Given the description of an element on the screen output the (x, y) to click on. 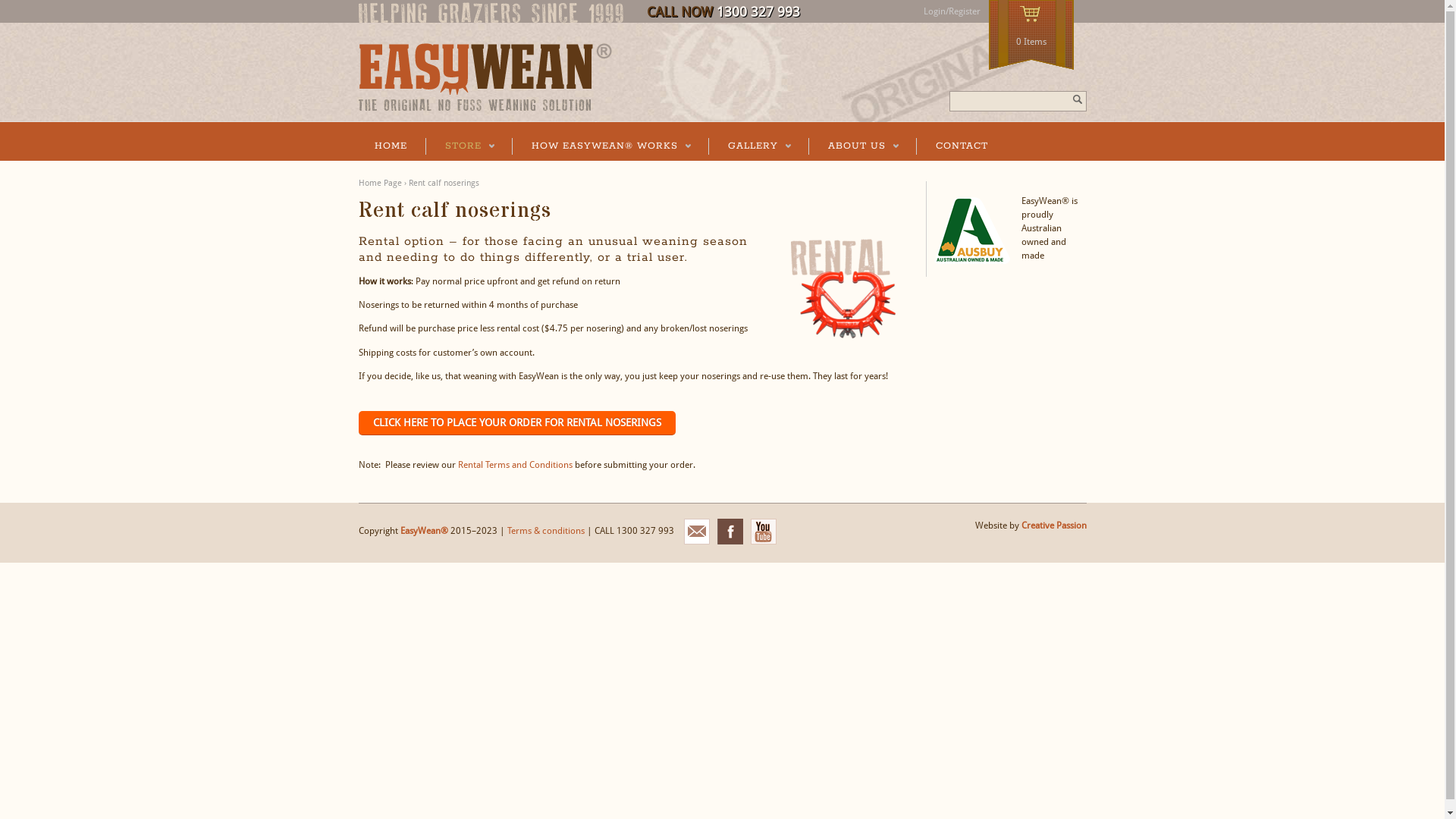
Easywean NoseRings Element type: hover (484, 107)
Creative Passion Element type: text (1052, 525)
Home Page Element type: text (379, 183)
CONTACT Element type: text (961, 146)
HOME Element type: text (389, 146)
Login/Register Element type: text (951, 11)
Rent calf noserings Element type: text (442, 183)
Terms & conditions Element type: text (544, 531)
Rental Terms and Conditions Element type: text (516, 464)
  Element type: text (1076, 99)
CLICK HERE TO PLACE YOUR ORDER FOR RENTAL NOSERINGS Element type: text (515, 423)
0 Items Element type: text (1030, 36)
